Given the description of an element on the screen output the (x, y) to click on. 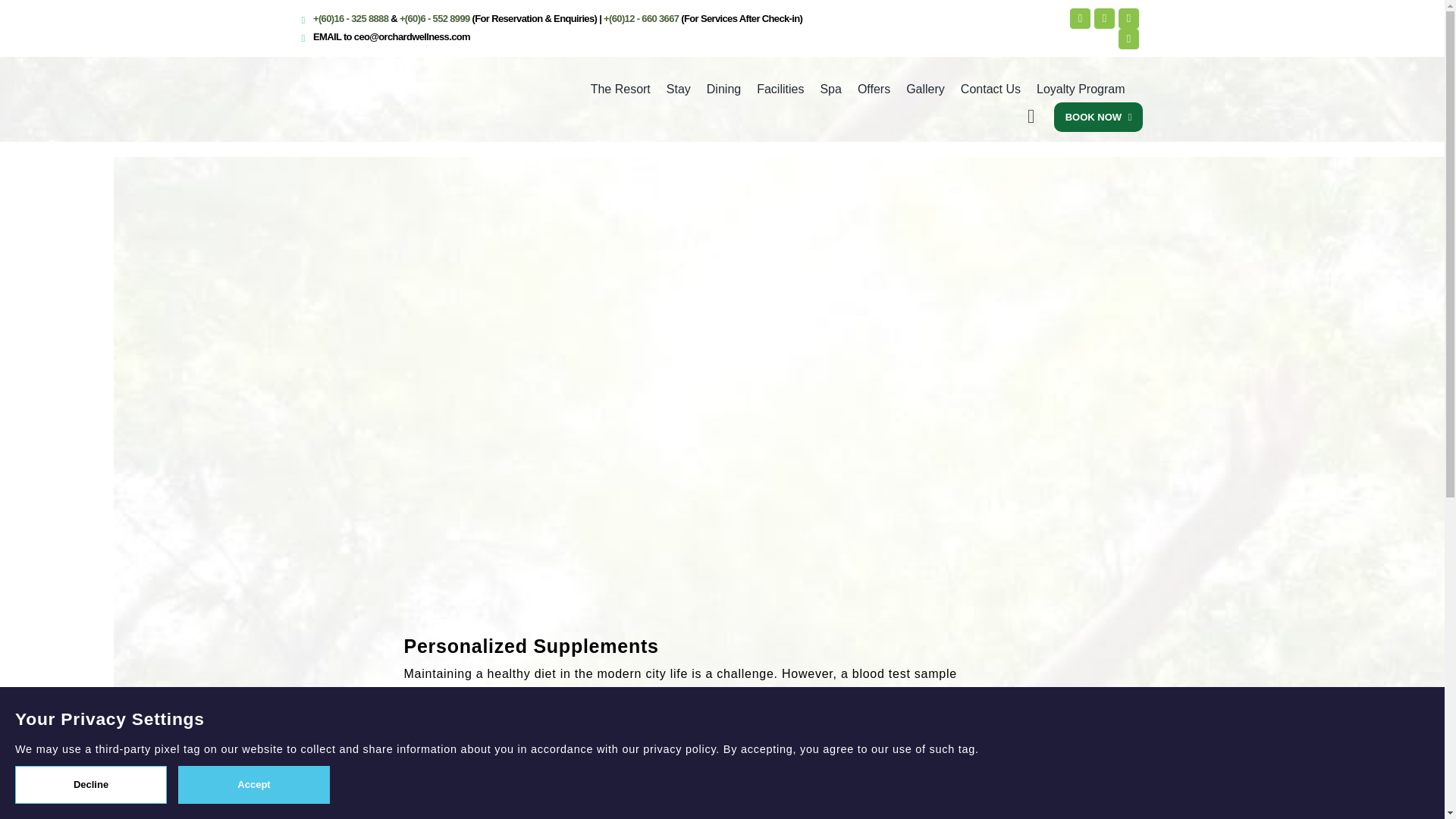
The Resort (624, 89)
Stay (678, 89)
Spa (830, 89)
Dining (723, 89)
Offers (874, 89)
Facilities (779, 89)
Gallery (925, 89)
